Given the description of an element on the screen output the (x, y) to click on. 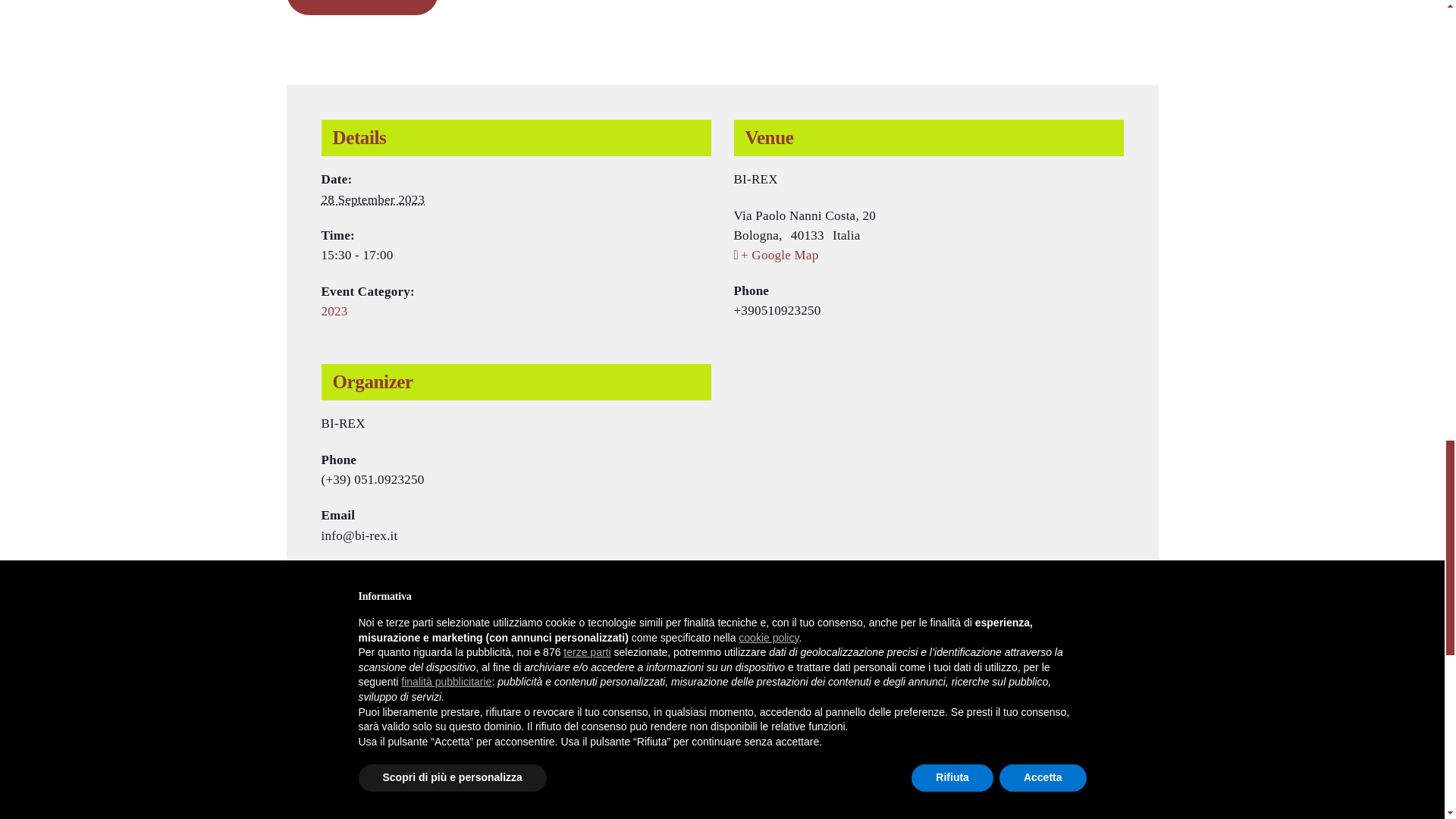
2023-09-28 (516, 255)
Click to view a Google Map (928, 255)
2023-09-28 (373, 199)
Google maps iframe displaying the address to BI-REX (928, 443)
